Given the description of an element on the screen output the (x, y) to click on. 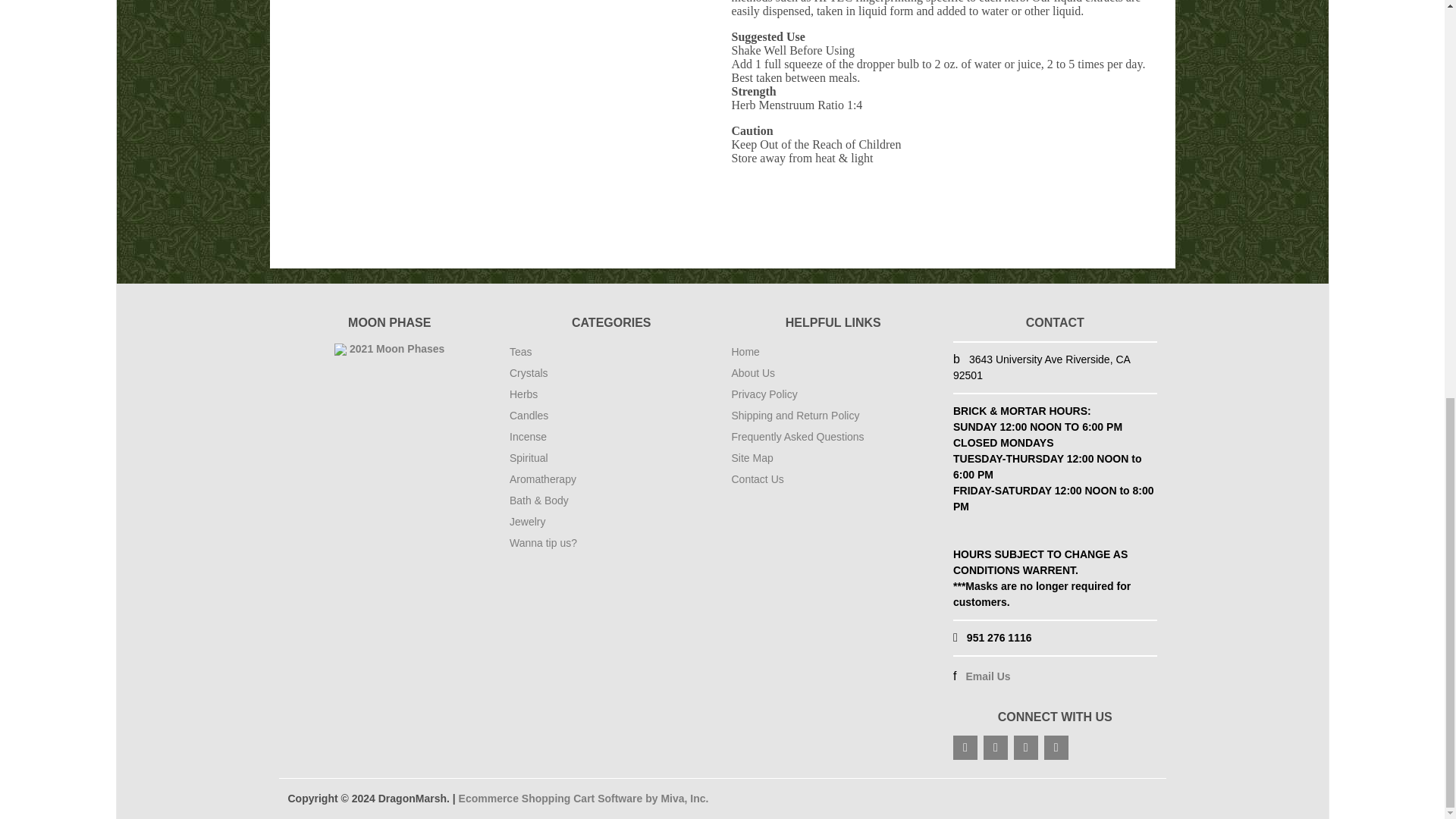
Pinterest (1055, 747)
Ecommerce Shopping Cart Software by Miva Merchant (583, 798)
Instagram (1025, 747)
Facebook (964, 747)
Twitter (995, 747)
